Given the description of an element on the screen output the (x, y) to click on. 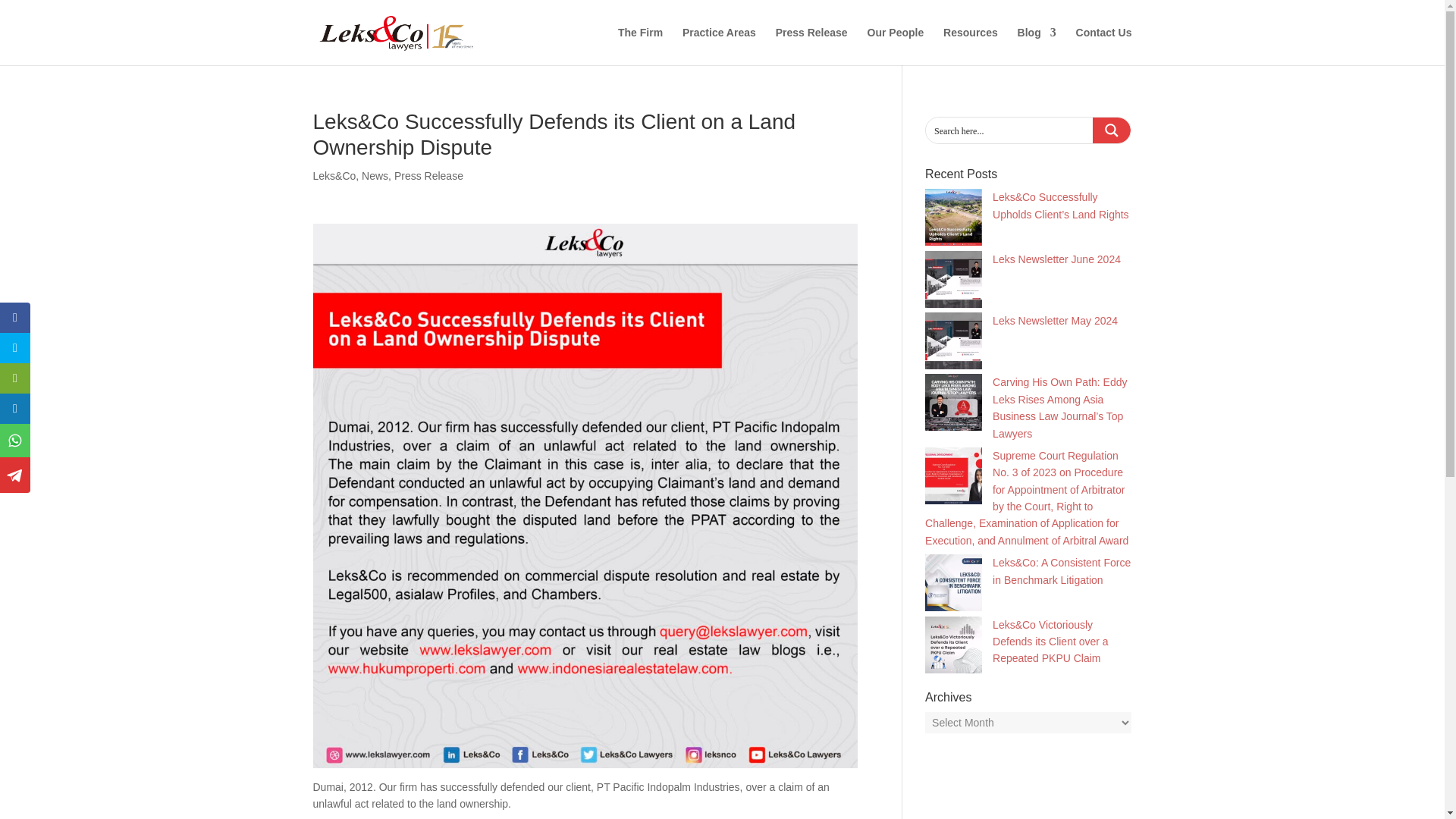
Our People (895, 46)
Press Release (428, 175)
Leks Newsletter May 2024 (1055, 320)
Practice Areas (718, 46)
Press Release (811, 46)
Resources (970, 46)
Contact Us (1103, 46)
Blog (1037, 46)
The Firm (639, 46)
News (374, 175)
Leks Newsletter June 2024 (1056, 259)
